Given the description of an element on the screen output the (x, y) to click on. 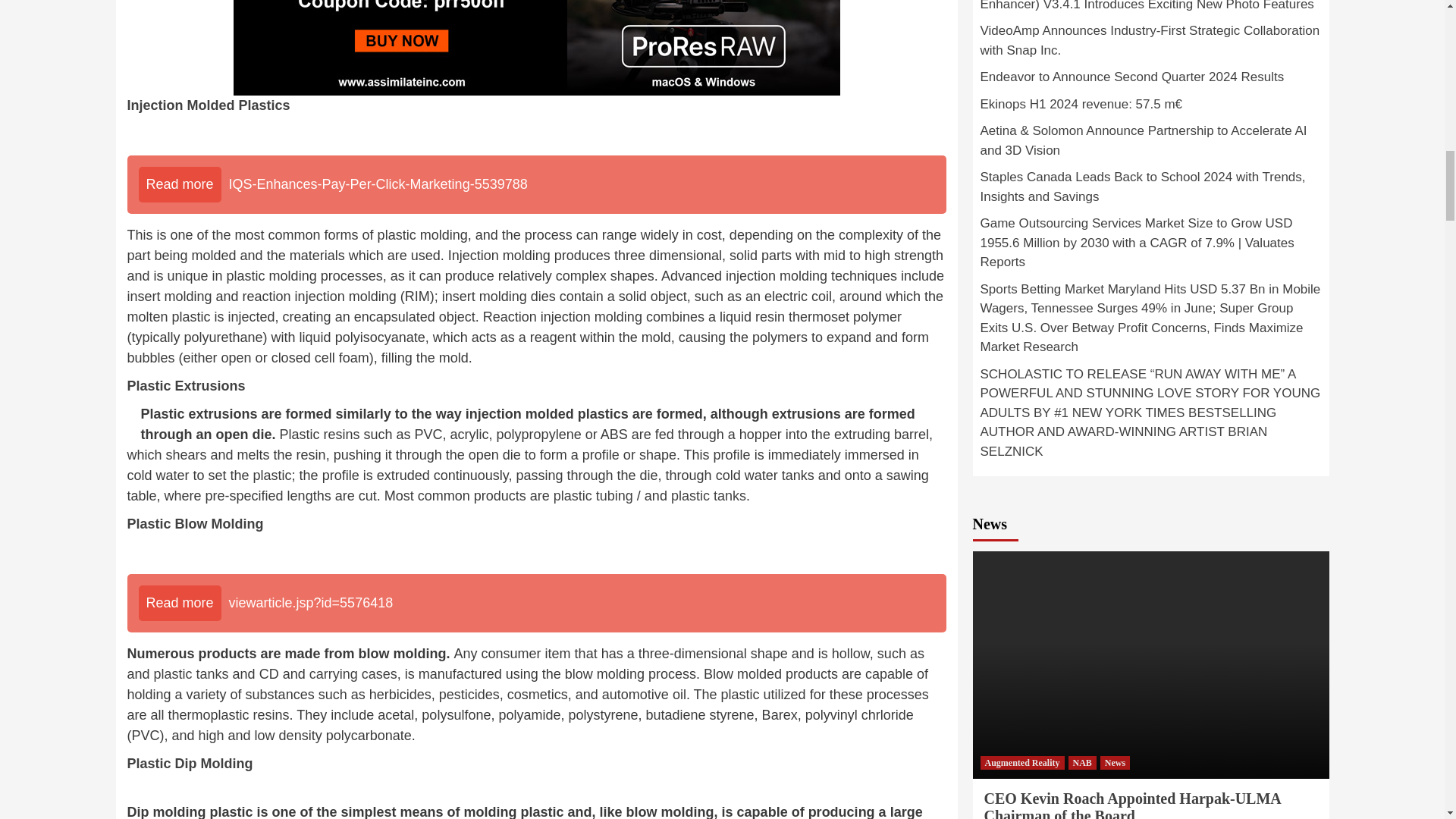
plastic tanks (191, 673)
Plastic Blow Molding (195, 523)
Plastic Dip Molding (190, 763)
plastic tubing (593, 495)
Injection Molded Plastics (208, 105)
plastic tanks (708, 495)
Plastic Extrusion (183, 385)
carrying cases (352, 673)
Read moreIQS-Enhances-Pay-Per-Click-Marketing-5539788 (537, 184)
